Given the description of an element on the screen output the (x, y) to click on. 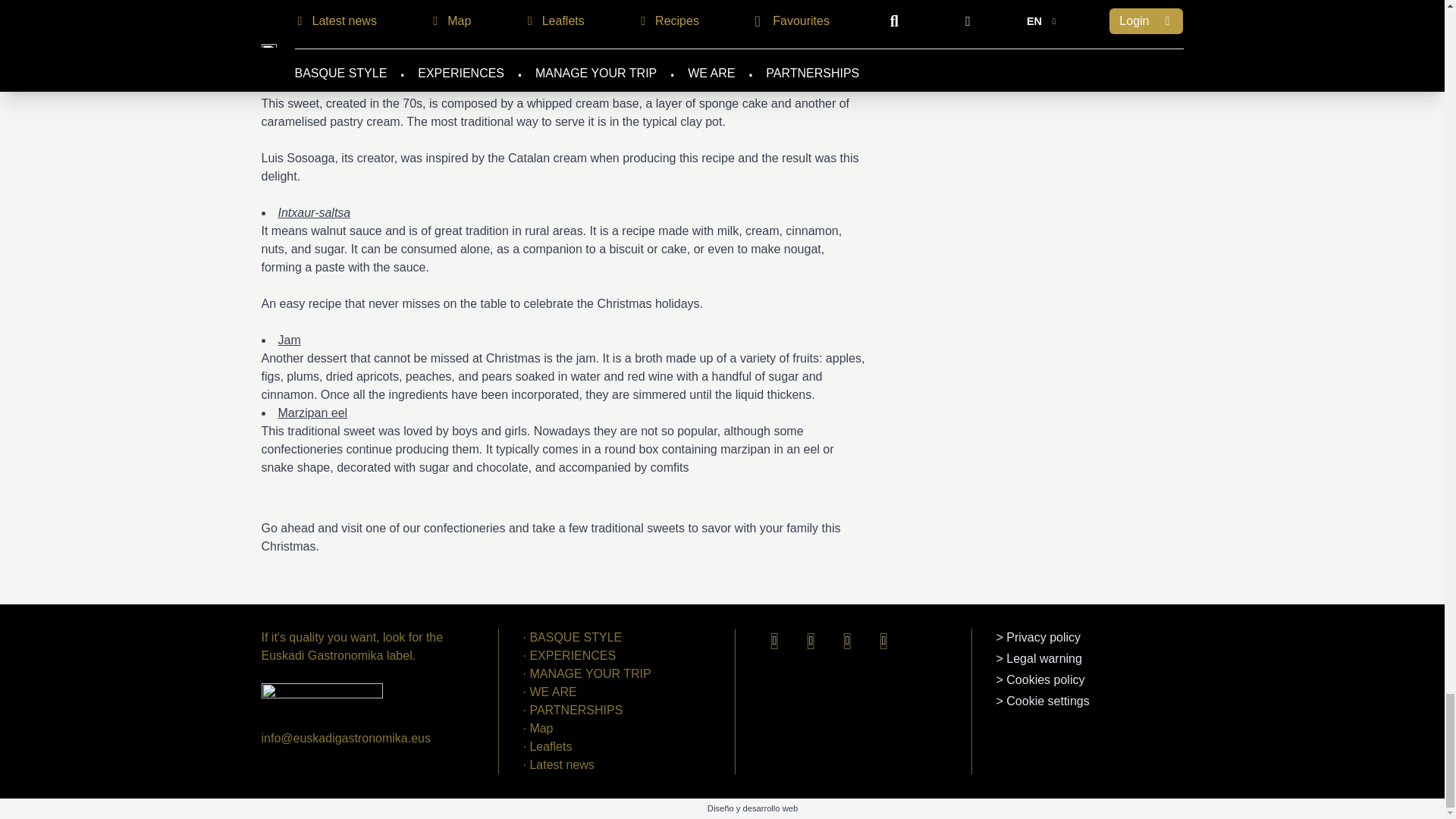
Go to www.presenciadigital.es (752, 808)
